Given the description of an element on the screen output the (x, y) to click on. 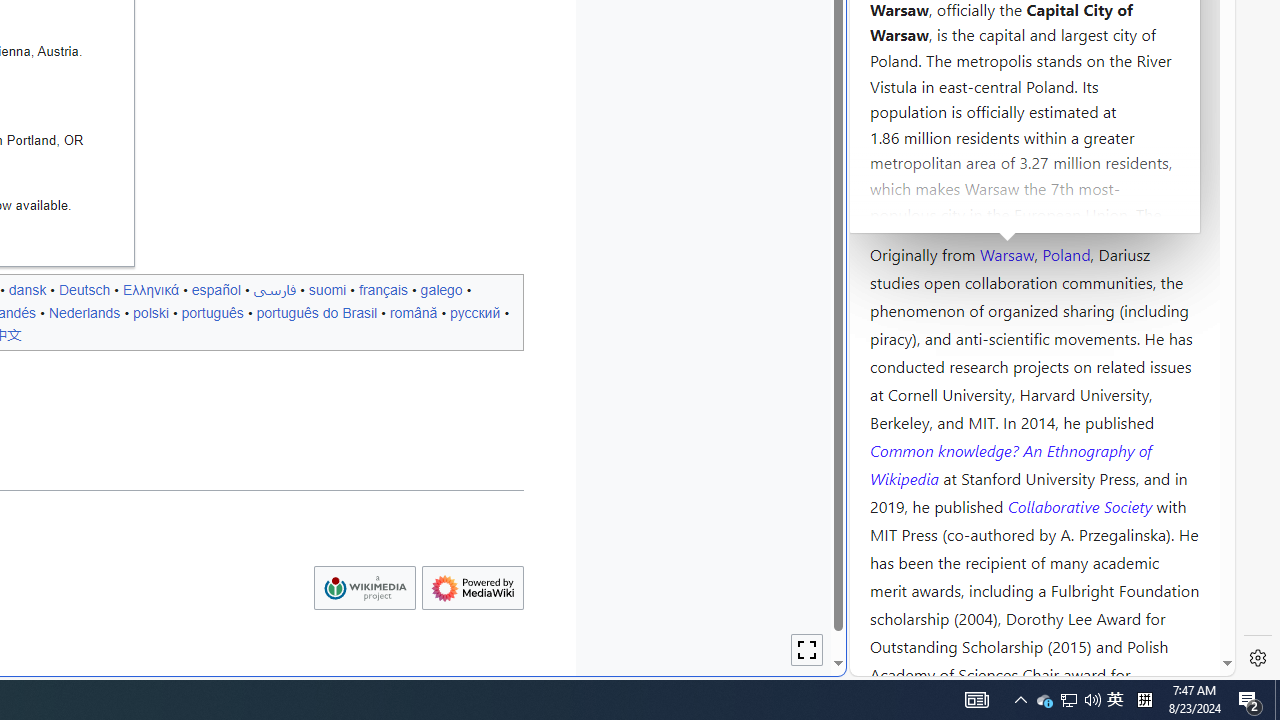
Poland (1065, 253)
Collaborative Society  (1082, 505)
Wikimedia Foundation (364, 588)
Toggle limited content width (807, 650)
Common knowledge? An Ethnography of Wikipedia (1010, 463)
Powered by MediaWiki (472, 588)
